Given the description of an element on the screen output the (x, y) to click on. 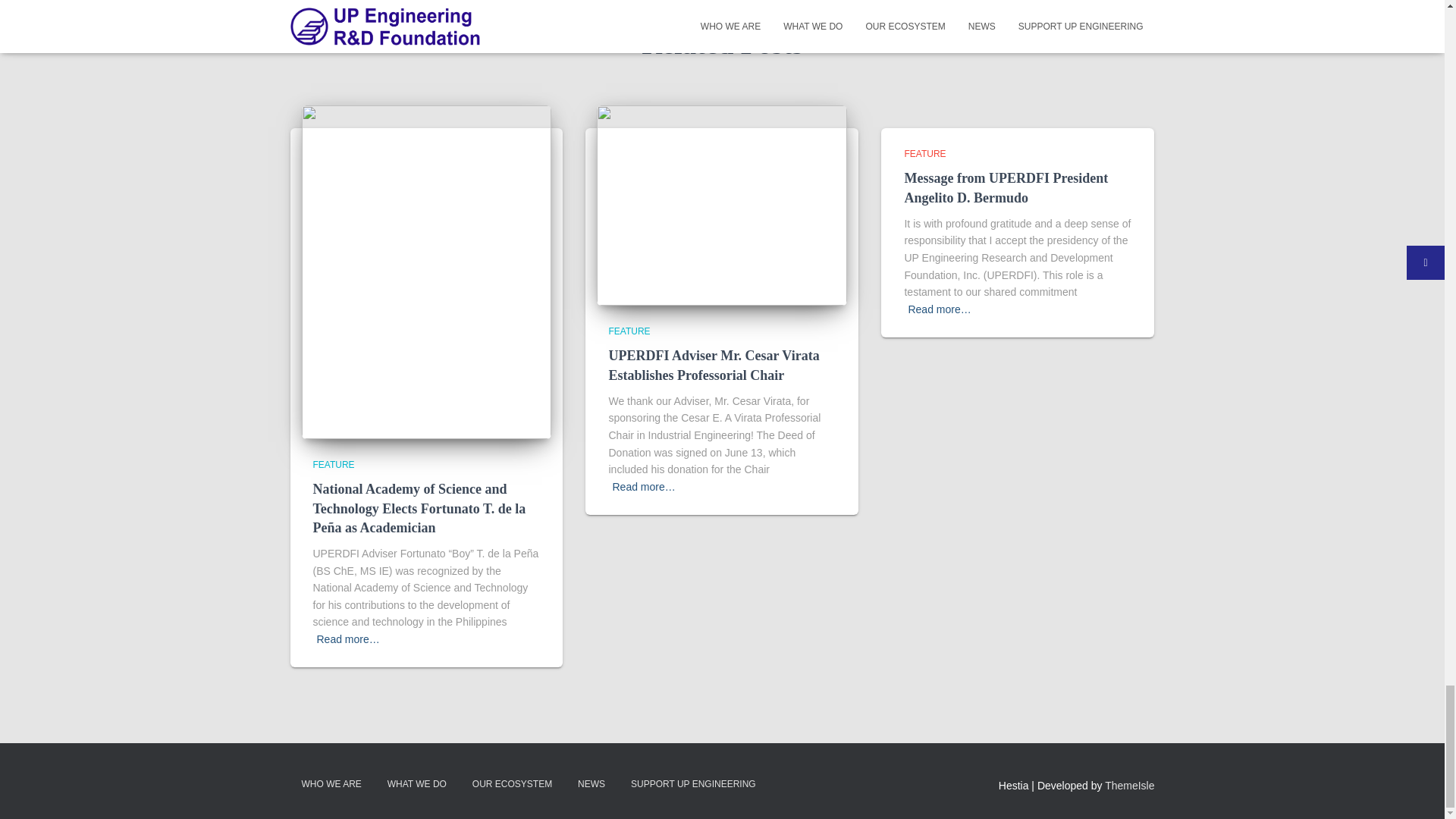
Message from UPERDFI President Angelito D. Bermudo (1006, 187)
View all posts in Feature (628, 330)
View all posts in Feature (924, 153)
View all posts in Feature (333, 464)
